Given the description of an element on the screen output the (x, y) to click on. 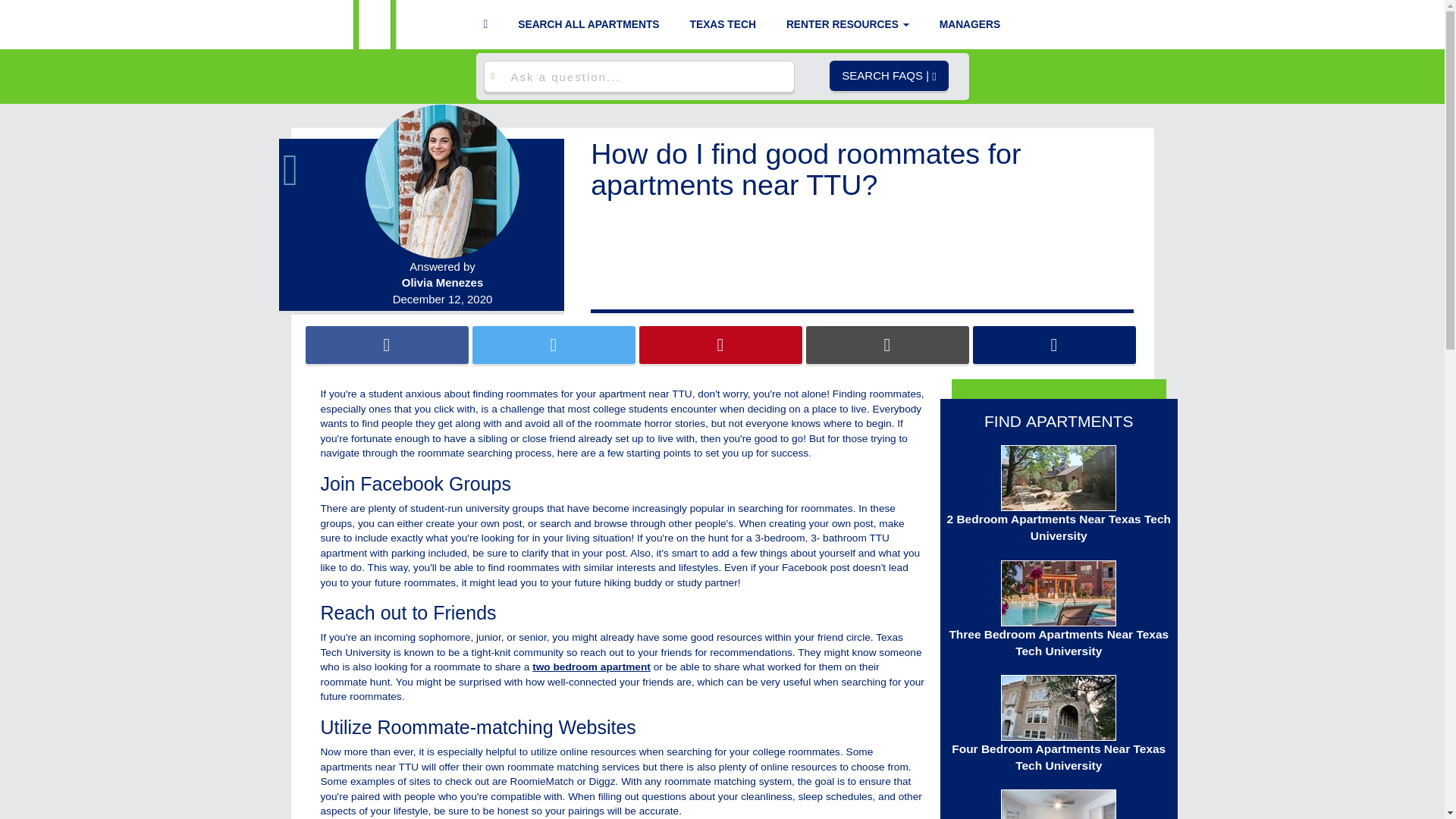
Renter Resources Menu Folder (847, 24)
Texas Tech (722, 24)
two bedroom apartment lubbock  (591, 666)
Olivia Menezes (442, 282)
TEXAS TECH (722, 24)
Share on Facebook (385, 344)
Email this article to someone (886, 344)
Copy Link To This Page (1053, 344)
Share on Twitter (552, 344)
RENTER RESOURCES (847, 24)
2 Bedroom Apartments Near Texas Tech University (1058, 494)
SEARCH ALL APARTMENTS (587, 24)
Four Bedroom Apartments Near Texas Tech University (1058, 724)
LinkedIn Profile (304, 165)
Advertise (969, 24)
